Given the description of an element on the screen output the (x, y) to click on. 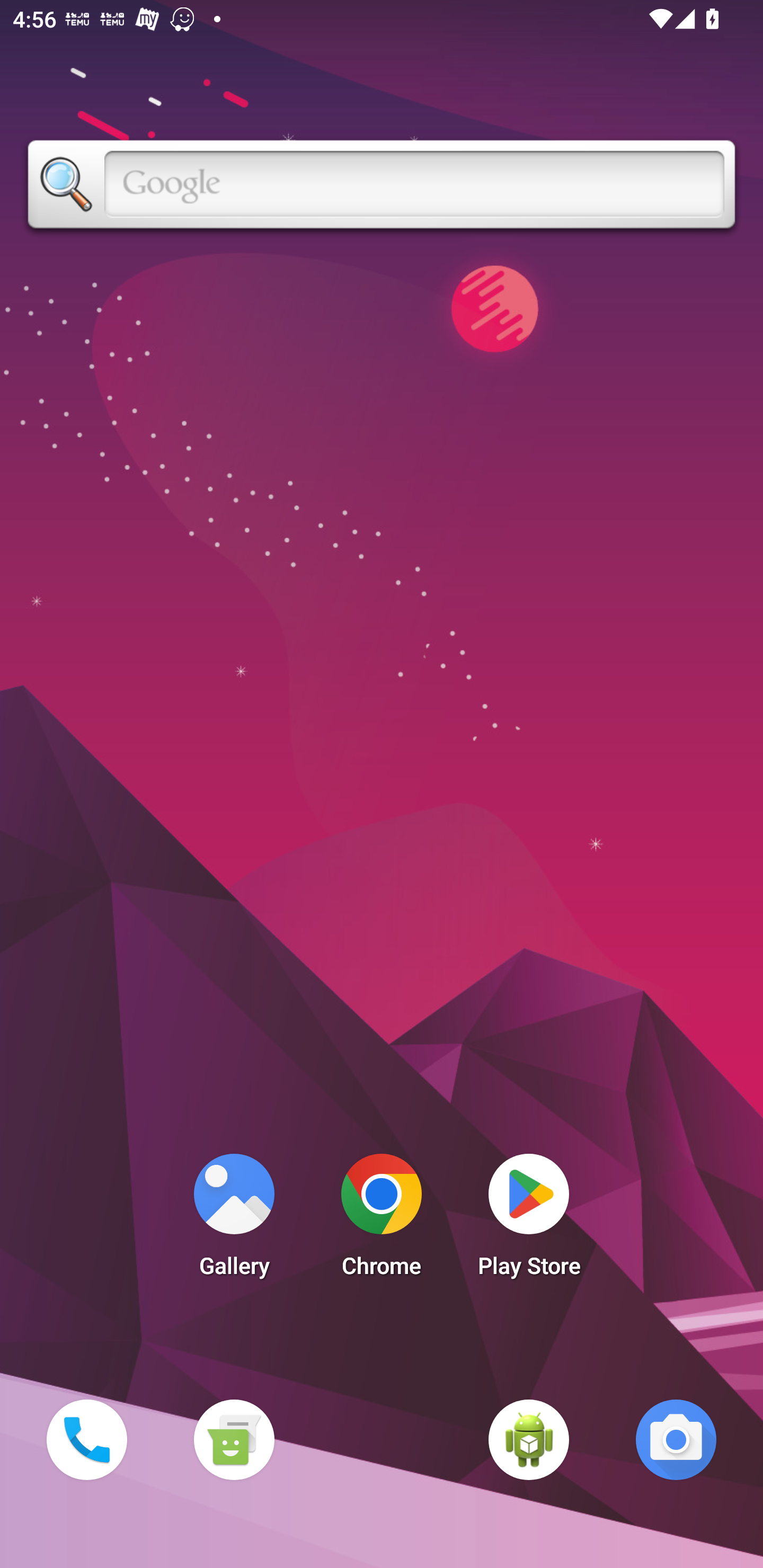
Gallery (233, 1220)
Chrome (381, 1220)
Play Store (528, 1220)
Phone (86, 1439)
Messaging (233, 1439)
WebView Browser Tester (528, 1439)
Camera (676, 1439)
